Given the description of an element on the screen output the (x, y) to click on. 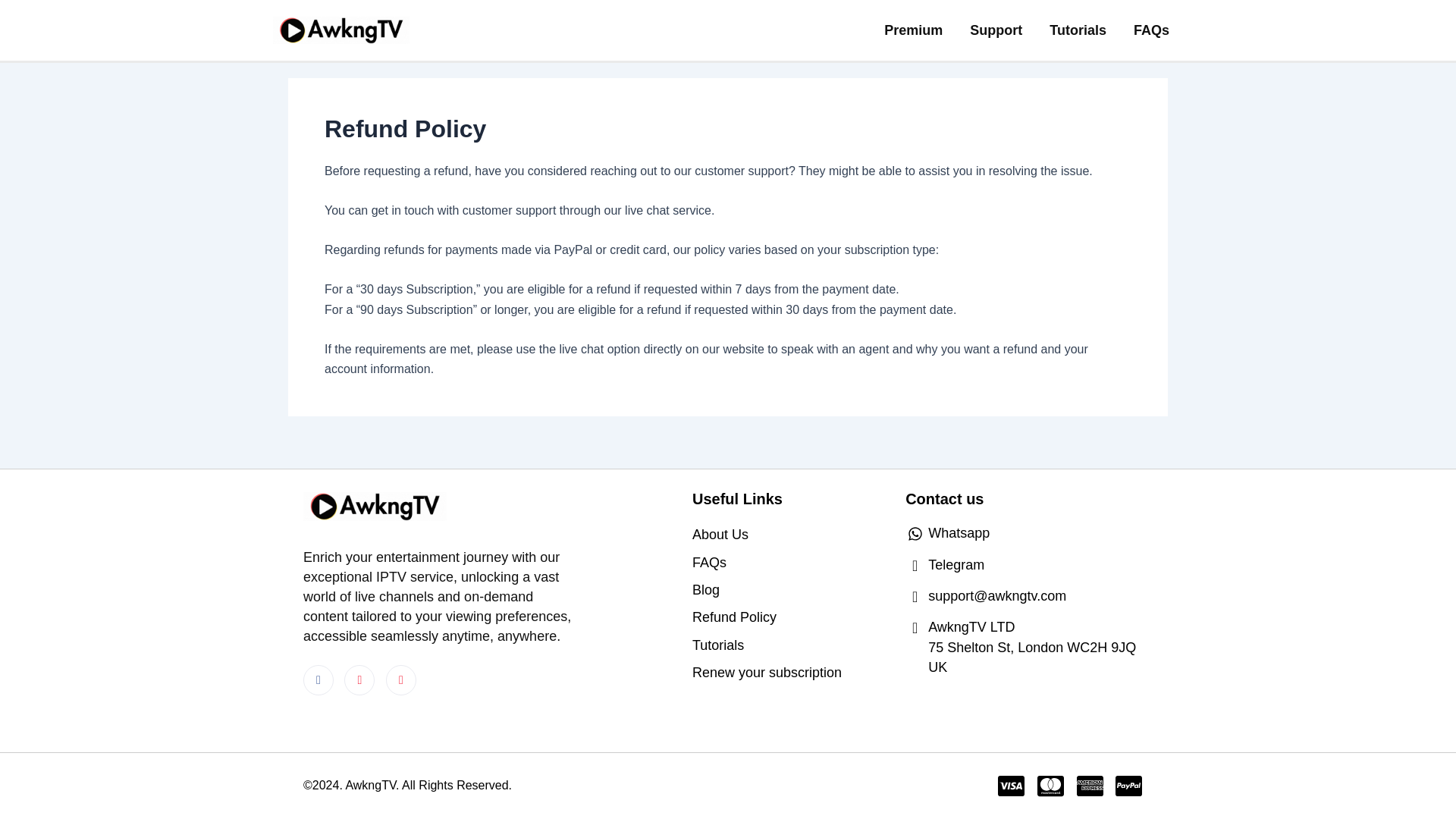
Tutorials (1077, 30)
Whatsapp (1027, 532)
Refund Policy (791, 617)
Renew your subscription (791, 672)
Blog (791, 589)
Tutorials (791, 645)
Support (995, 30)
Premium (913, 30)
About Us (791, 534)
FAQs (791, 562)
FAQs (1150, 30)
